Given the description of an element on the screen output the (x, y) to click on. 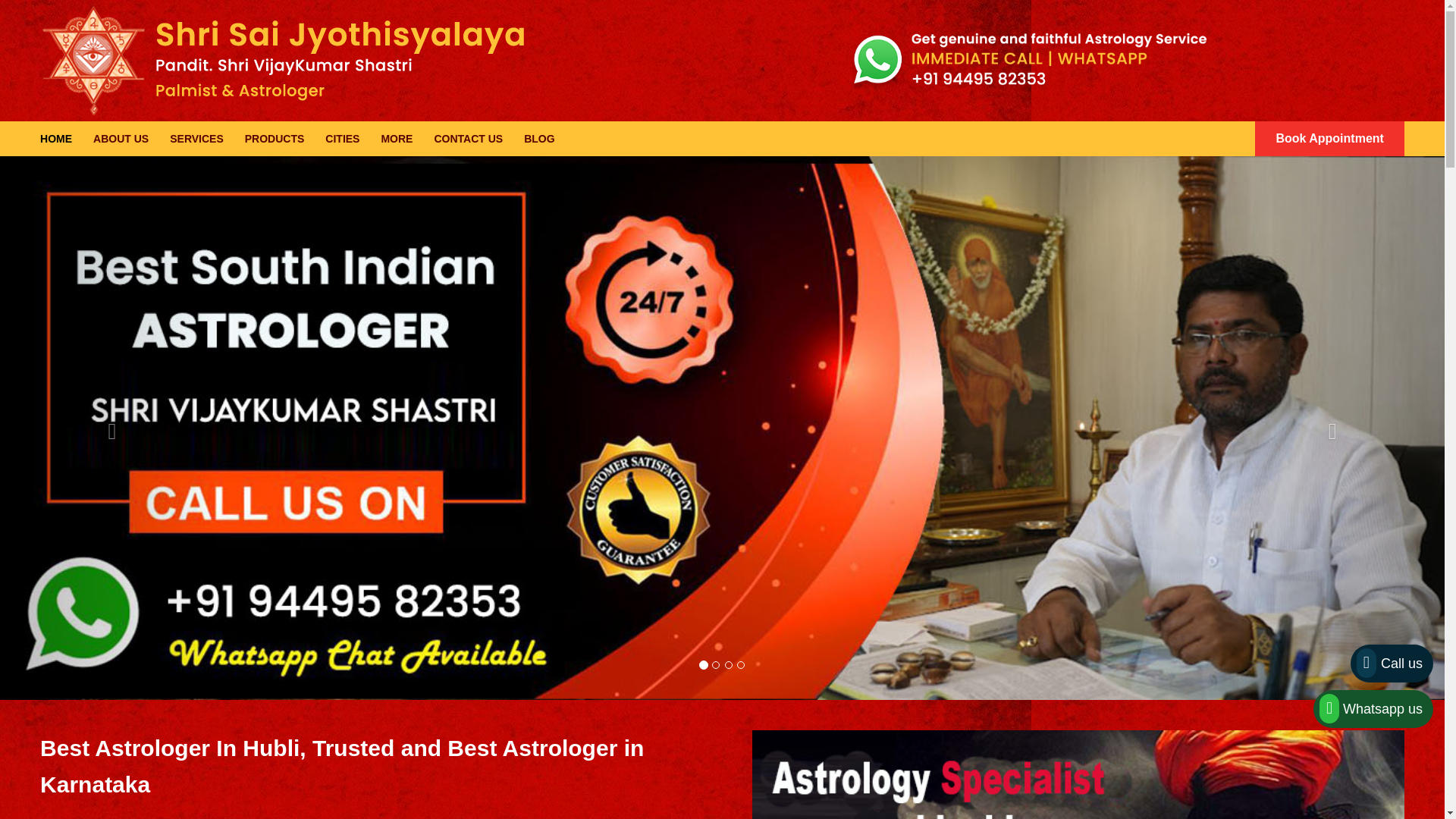
PRODUCTS (274, 138)
ABOUT US (120, 138)
CITIES (341, 138)
HOME (55, 138)
SERVICES (197, 138)
